Given the description of an element on the screen output the (x, y) to click on. 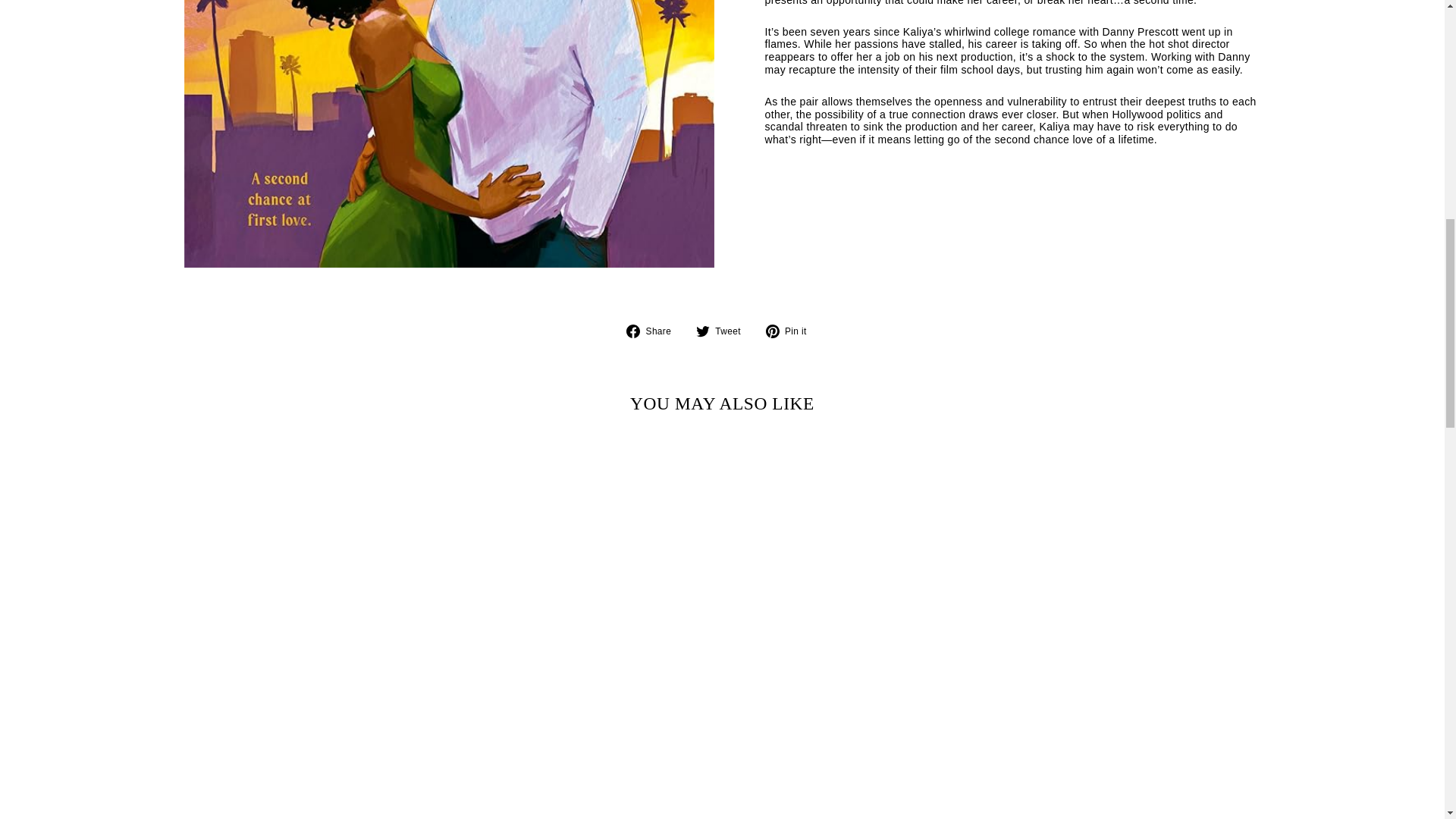
Share on Facebook (654, 331)
Tweet on Twitter (723, 331)
Pin on Pinterest (791, 331)
